Given the description of an element on the screen output the (x, y) to click on. 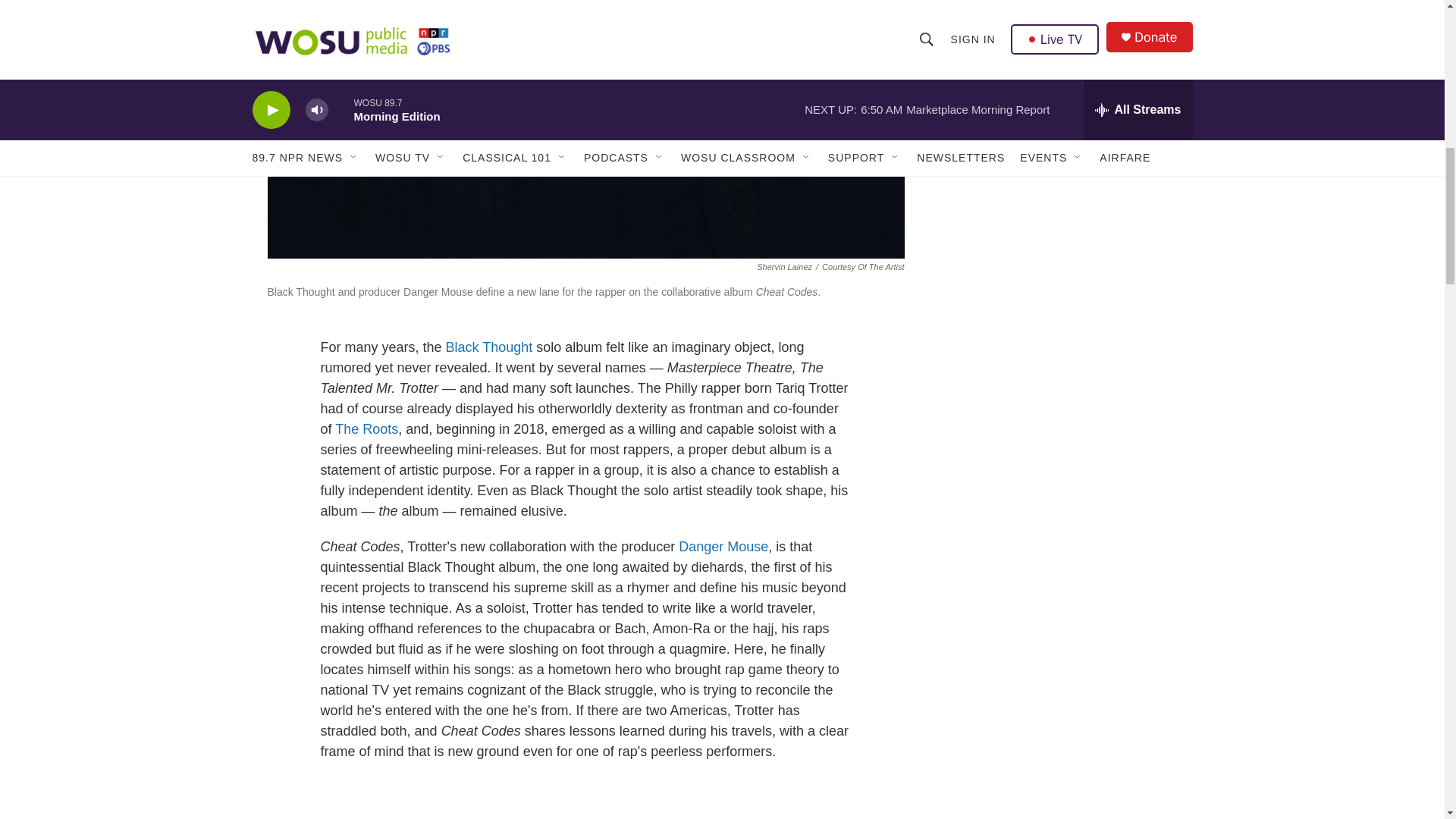
3rd party ad content (1062, 58)
